Given the description of an element on the screen output the (x, y) to click on. 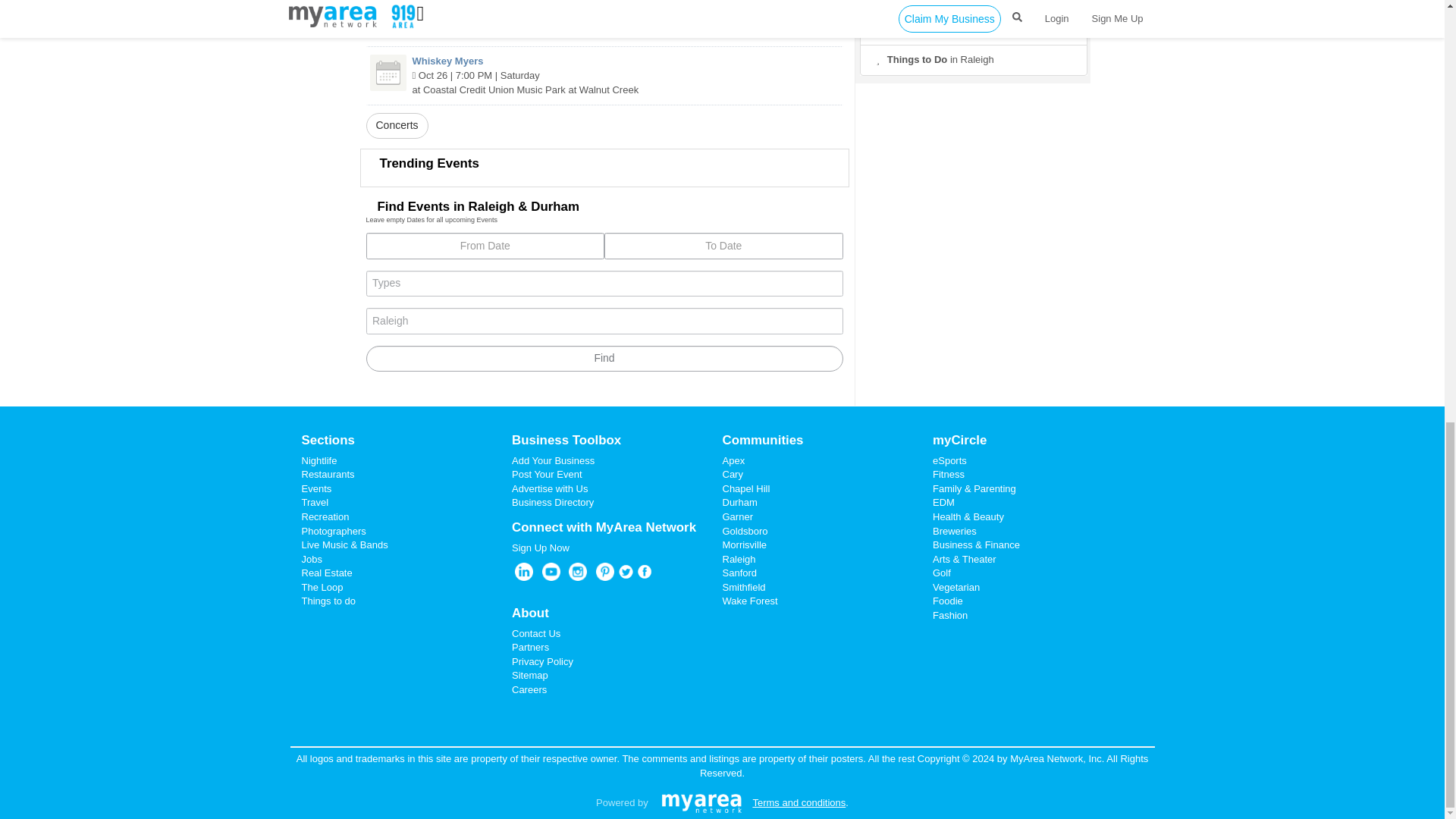
Find (604, 358)
